Given the description of an element on the screen output the (x, y) to click on. 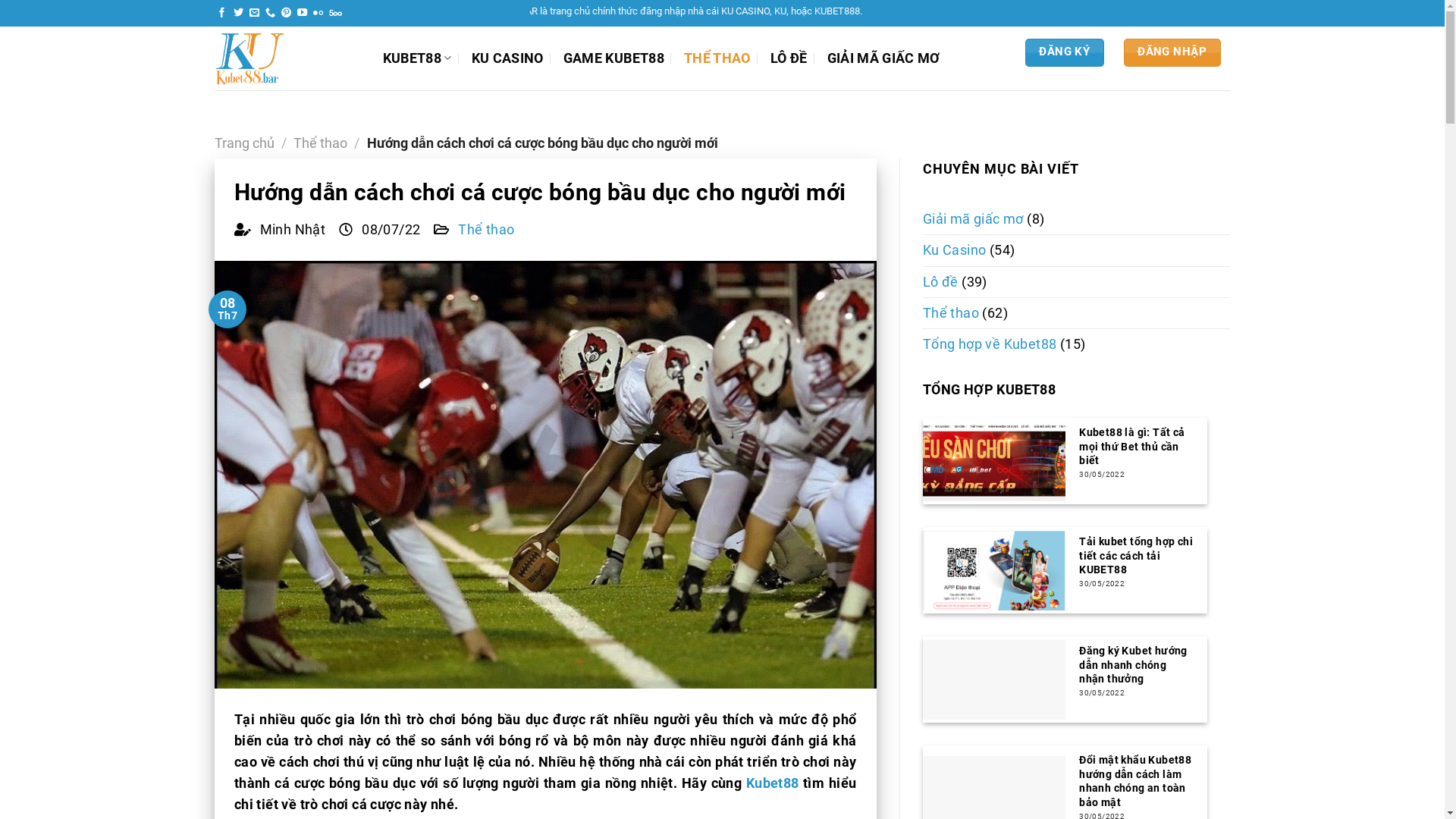
Follow on Facebook Element type: hover (221, 12)
Send us an email Element type: hover (254, 12)
GAME KUBET88 Element type: text (613, 58)
Ku Casino Element type: text (954, 250)
Follow on 500px Element type: hover (335, 12)
Follow on Pinterest Element type: hover (286, 12)
KUBET88 Element type: text (416, 57)
Follow on YouTube Element type: hover (302, 12)
Flickr Element type: hover (318, 12)
Call us Element type: hover (270, 12)
Kubet88 Element type: text (772, 782)
KU CASINO Element type: text (507, 58)
kubet88.tax - kubet88.tax Element type: hover (286, 58)
Follow on Twitter Element type: hover (238, 12)
